Given the description of an element on the screen output the (x, y) to click on. 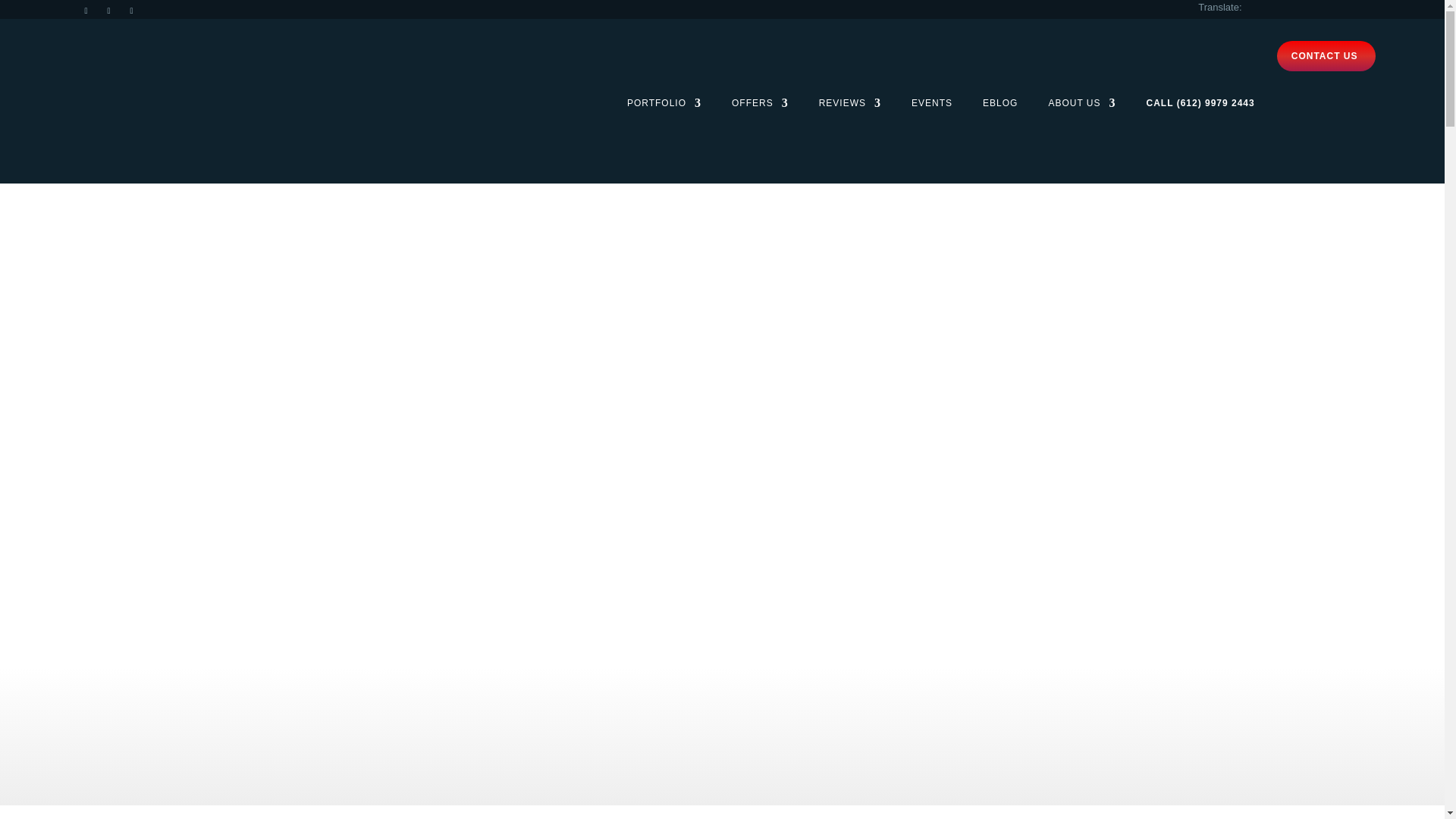
Follow on Youtube (130, 10)
Follow on Facebook (108, 10)
Follow on Instagram (85, 10)
